Given the description of an element on the screen output the (x, y) to click on. 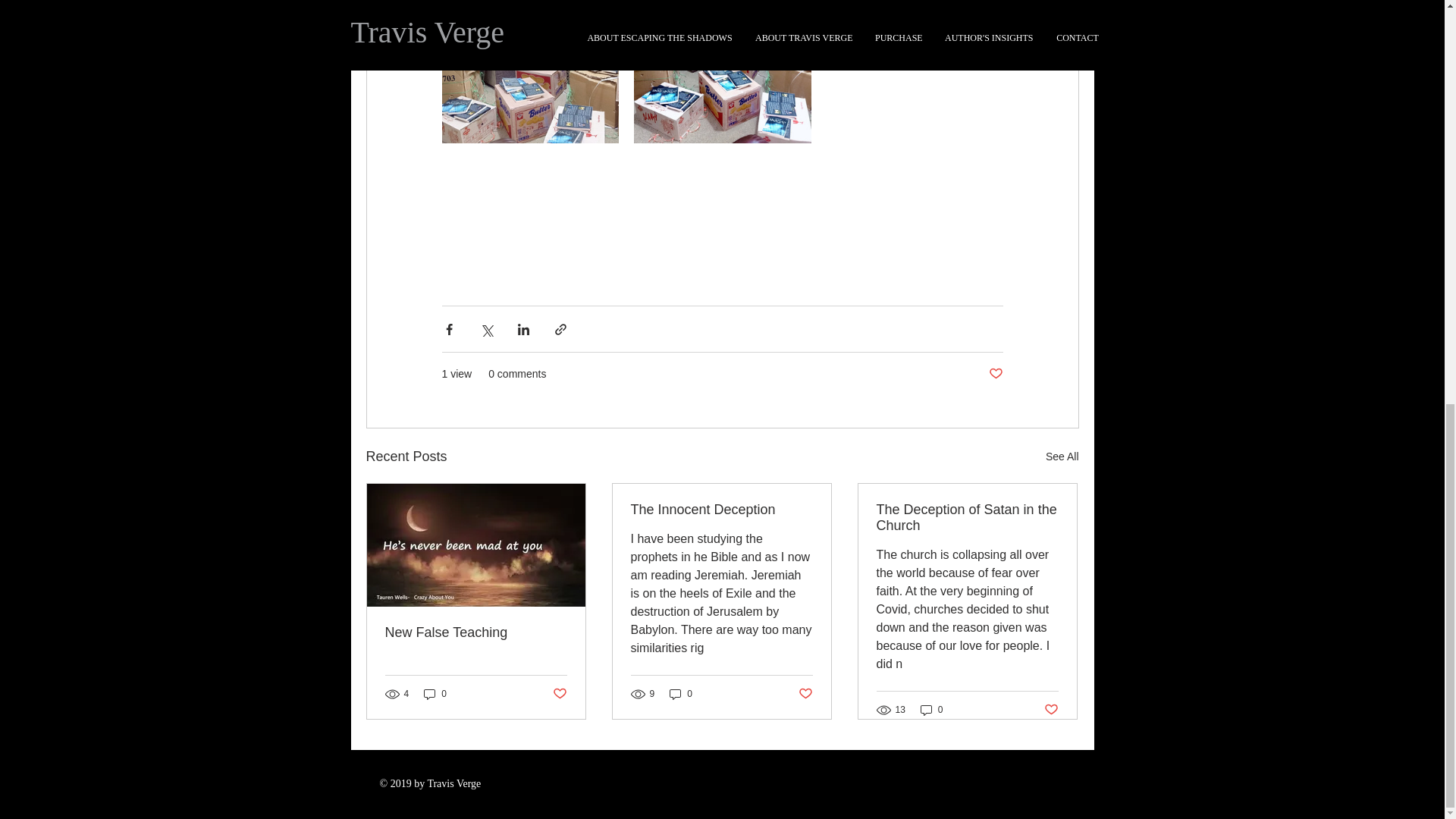
0 (435, 693)
The Deception of Satan in the Church (967, 517)
Post not marked as liked (558, 693)
Post not marked as liked (1050, 709)
0 (931, 709)
Post not marked as liked (995, 374)
New False Teaching (476, 632)
See All (1061, 456)
The Innocent Deception (721, 509)
Post not marked as liked (804, 693)
